Given the description of an element on the screen output the (x, y) to click on. 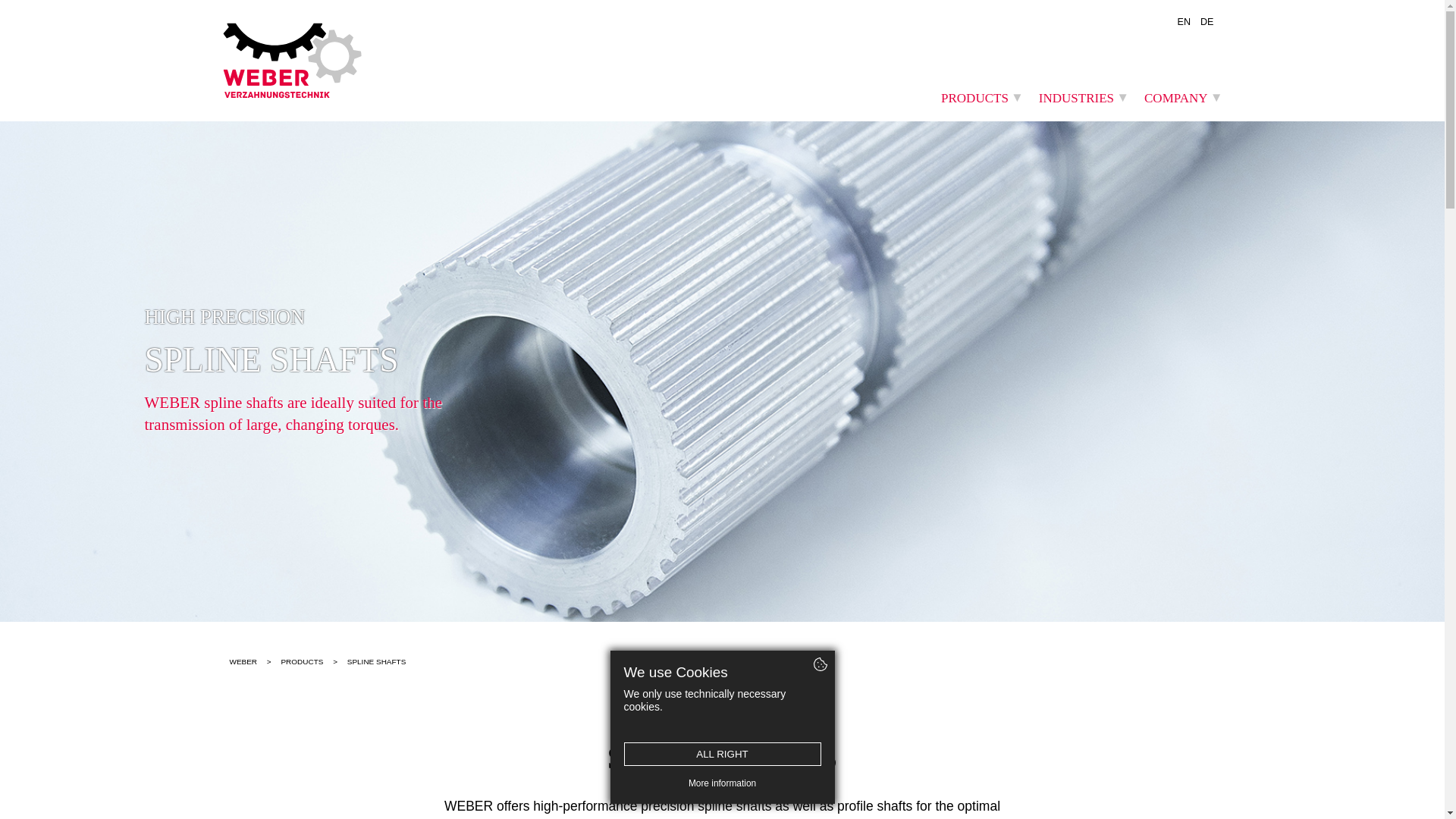
EN (1183, 22)
WEBER Gearing Technology (242, 661)
Spline shafts (722, 758)
ENGLISH (1183, 22)
SPLINE SHAFTS (722, 758)
WEBER (242, 661)
SPLINE SHAFTS (376, 661)
DEUTSCH (1206, 22)
WEBER Verzahnungstechnik (304, 60)
DE (1206, 22)
Spline shafts (376, 661)
Products (301, 661)
PRODUCTS (301, 661)
